Given the description of an element on the screen output the (x, y) to click on. 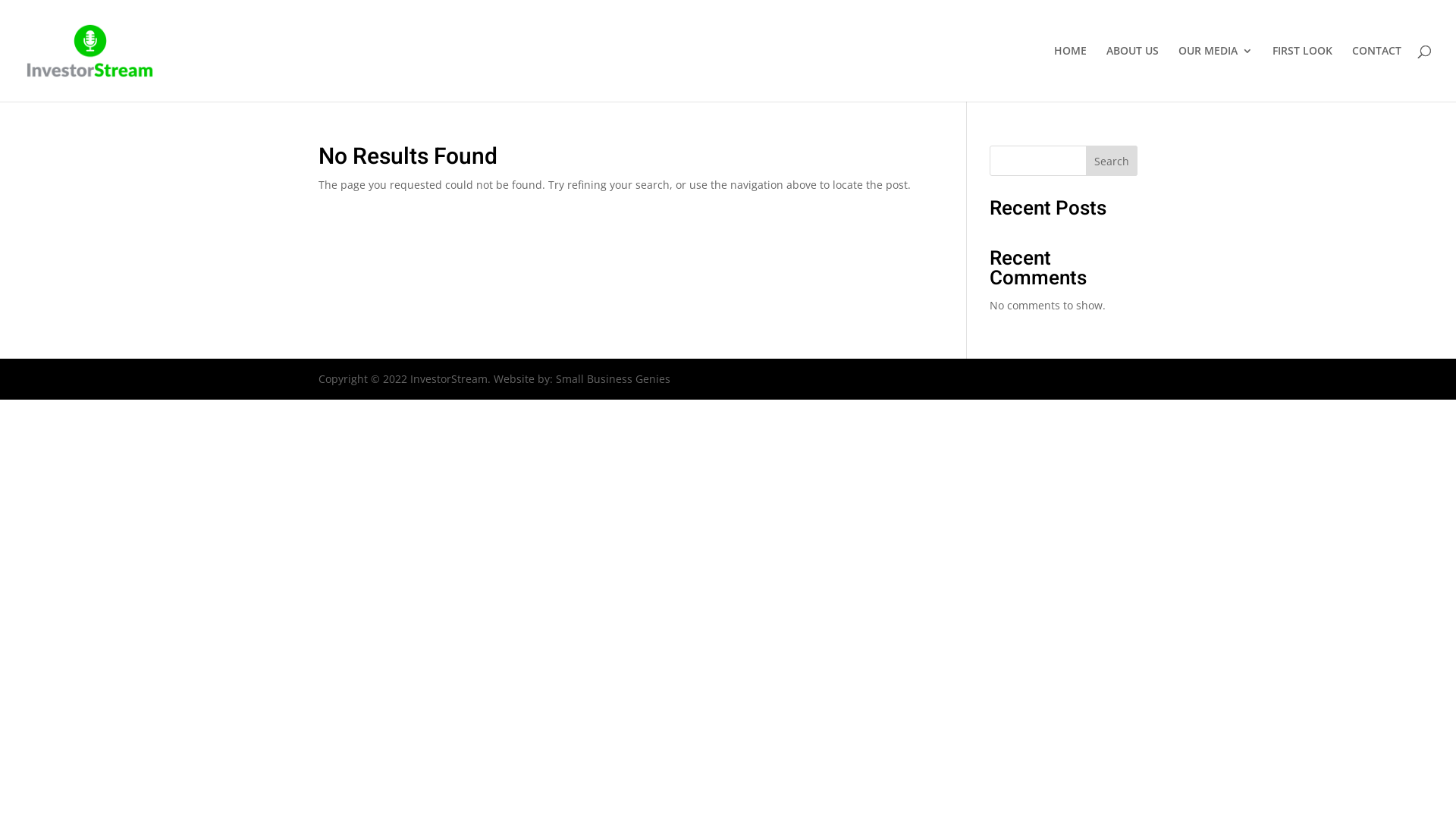
HOME Element type: text (1070, 73)
OUR MEDIA Element type: text (1215, 73)
CONTACT Element type: text (1376, 73)
FIRST LOOK Element type: text (1302, 73)
ABOUT US Element type: text (1132, 73)
Search Element type: text (1111, 160)
